Given the description of an element on the screen output the (x, y) to click on. 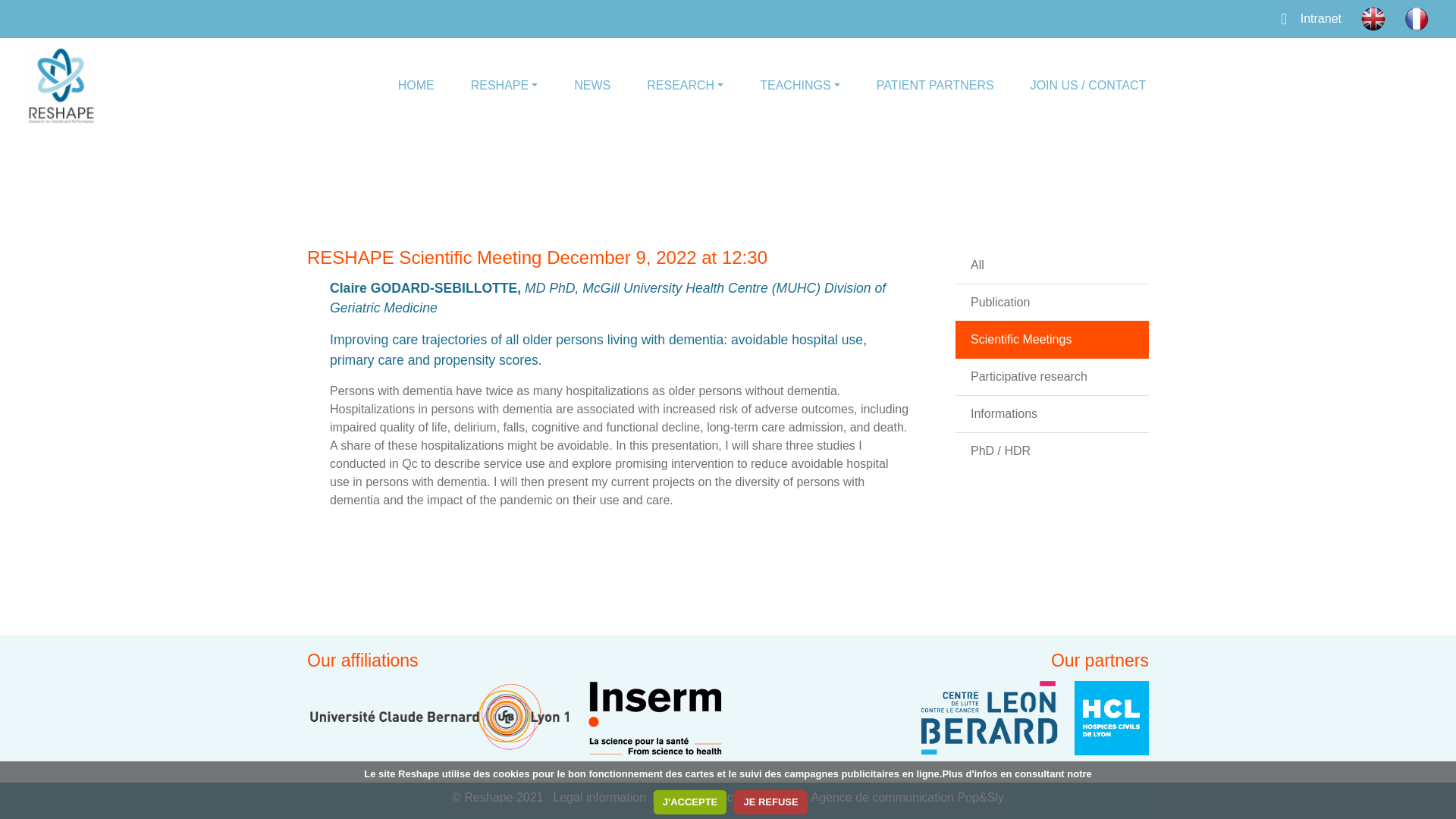
HOME (416, 85)
RESEARCH (684, 85)
Scientific Meetings (1021, 338)
Participative research (1029, 376)
PATIENT PARTNERS (935, 85)
Informations (1003, 413)
NEWS (591, 85)
Privacy policy (705, 797)
Intranet (1307, 18)
RESHAPE (504, 85)
All (977, 264)
TEACHINGS (799, 85)
J'ACCEPTE (689, 802)
Legal information (603, 797)
JE REFUSE (769, 802)
